Given the description of an element on the screen output the (x, y) to click on. 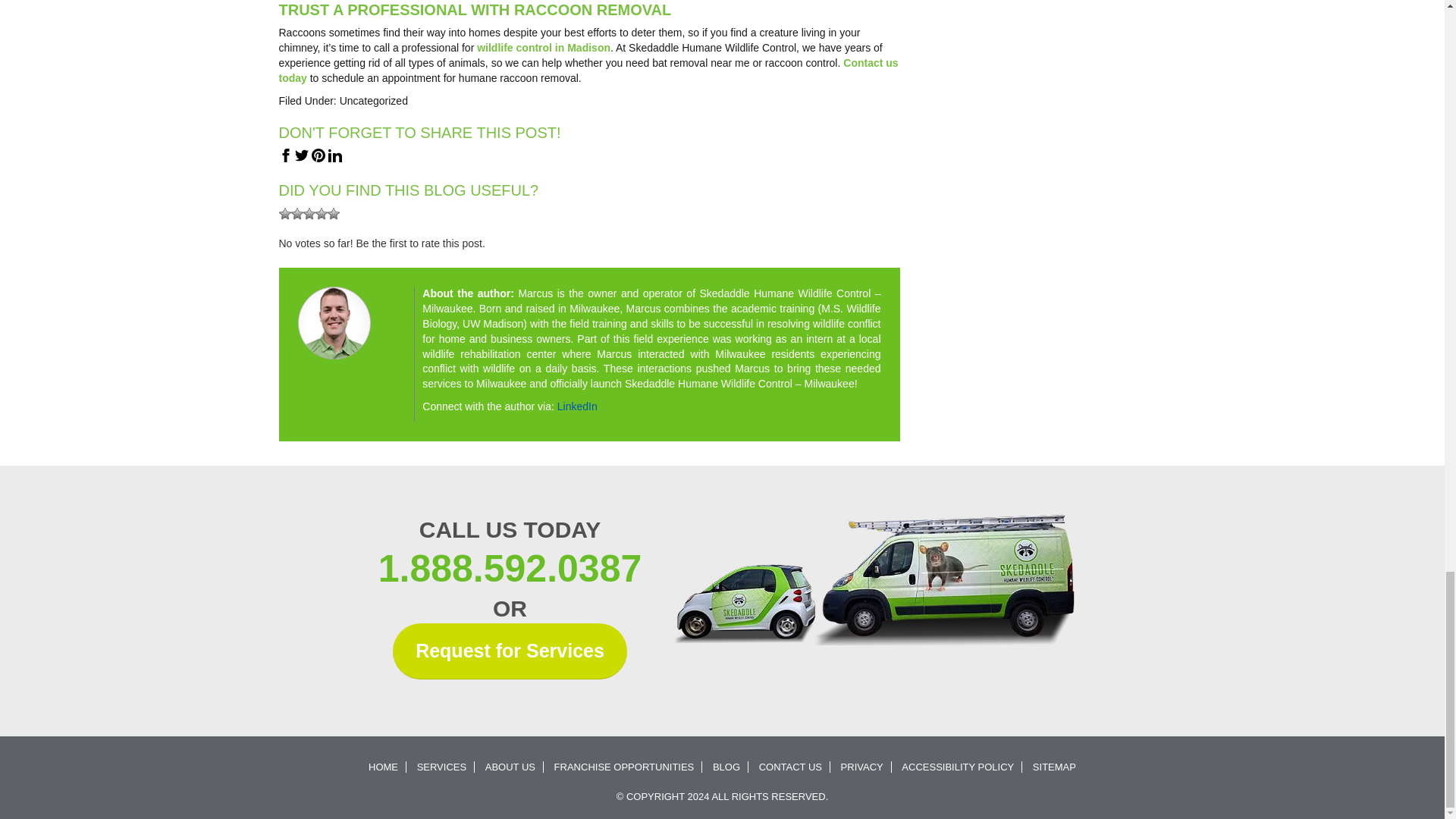
wildlife control in Madison (543, 47)
LinkedIn (576, 406)
Contact us today (588, 70)
